Given the description of an element on the screen output the (x, y) to click on. 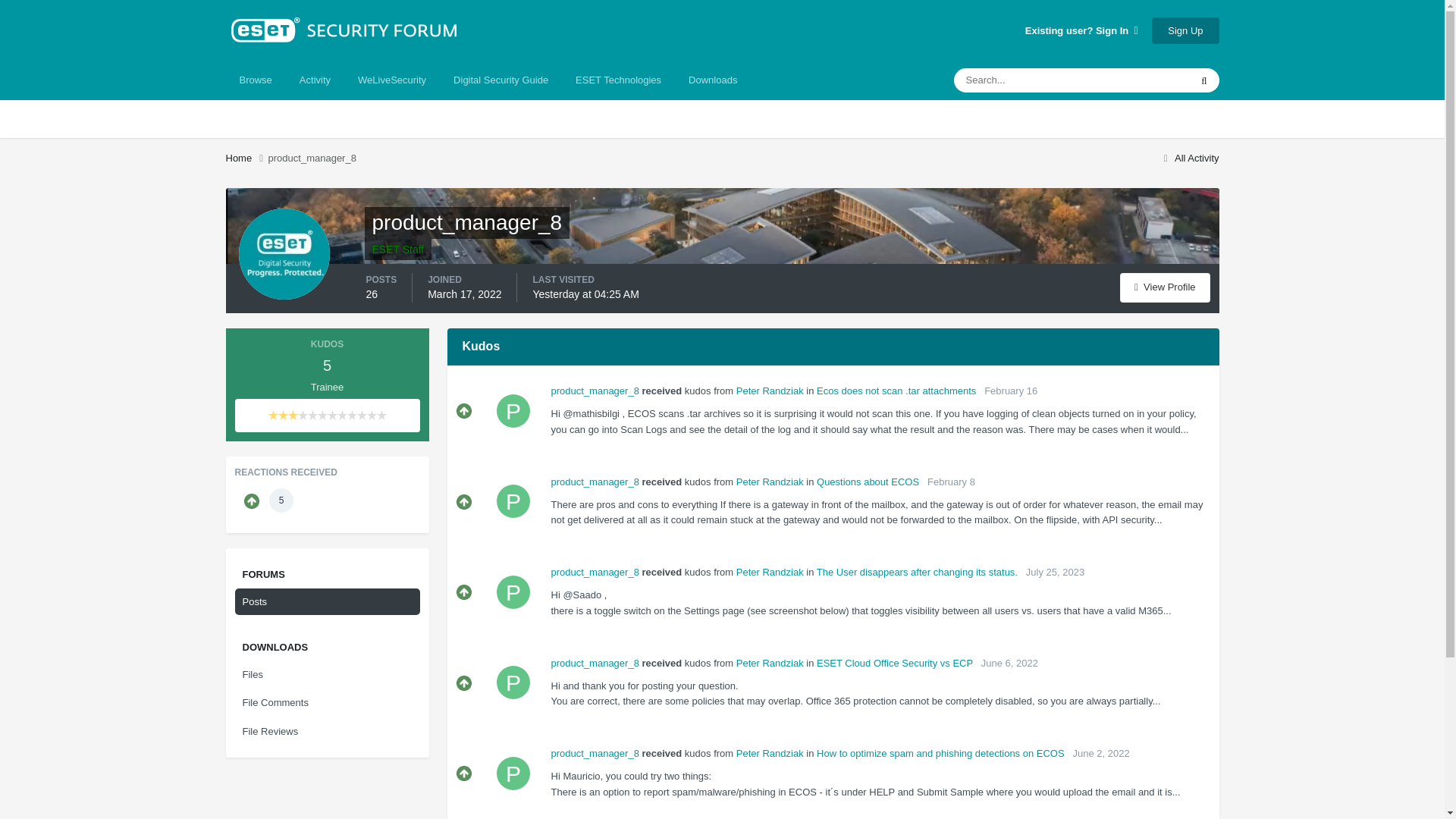
Existing user? Sign In   (1081, 30)
Upvote (464, 410)
Home (246, 158)
Go to Peter Randziak's profile (512, 500)
ESET Technologies (618, 79)
Activity (314, 79)
Go to Peter Randziak's profile (512, 410)
WeLiveSecurity (391, 79)
Home (246, 158)
Digital Security Guide (500, 79)
 View Profile (1164, 287)
Upvote (464, 501)
All Activity (1188, 157)
Downloads (713, 79)
Sign Up (1184, 29)
